Given the description of an element on the screen output the (x, y) to click on. 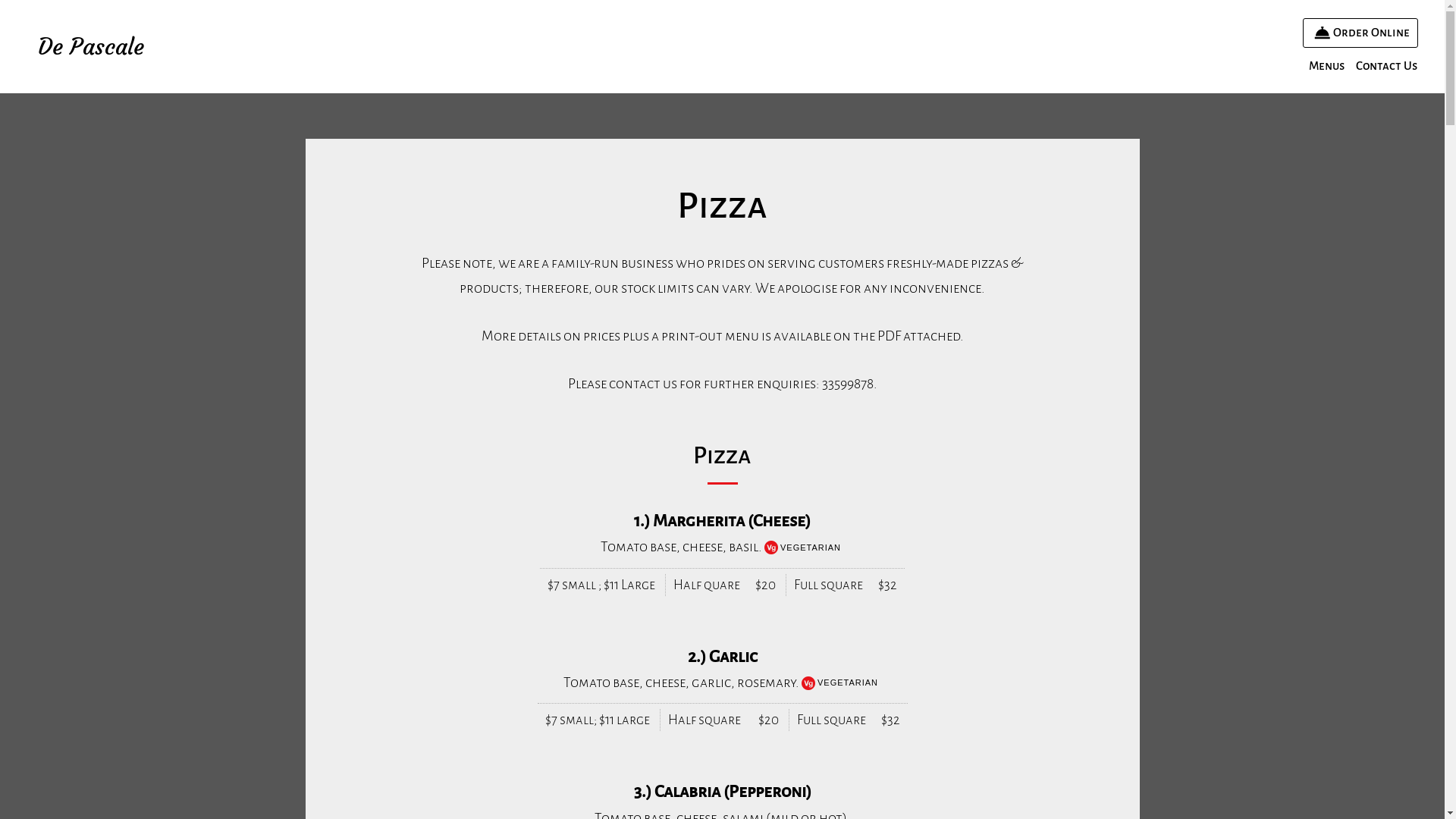
Menus Element type: text (1326, 65)
Contact Us Element type: text (1386, 65)
Order Online Element type: text (1360, 32)
De Pascale Element type: text (91, 46)
